Given the description of an element on the screen output the (x, y) to click on. 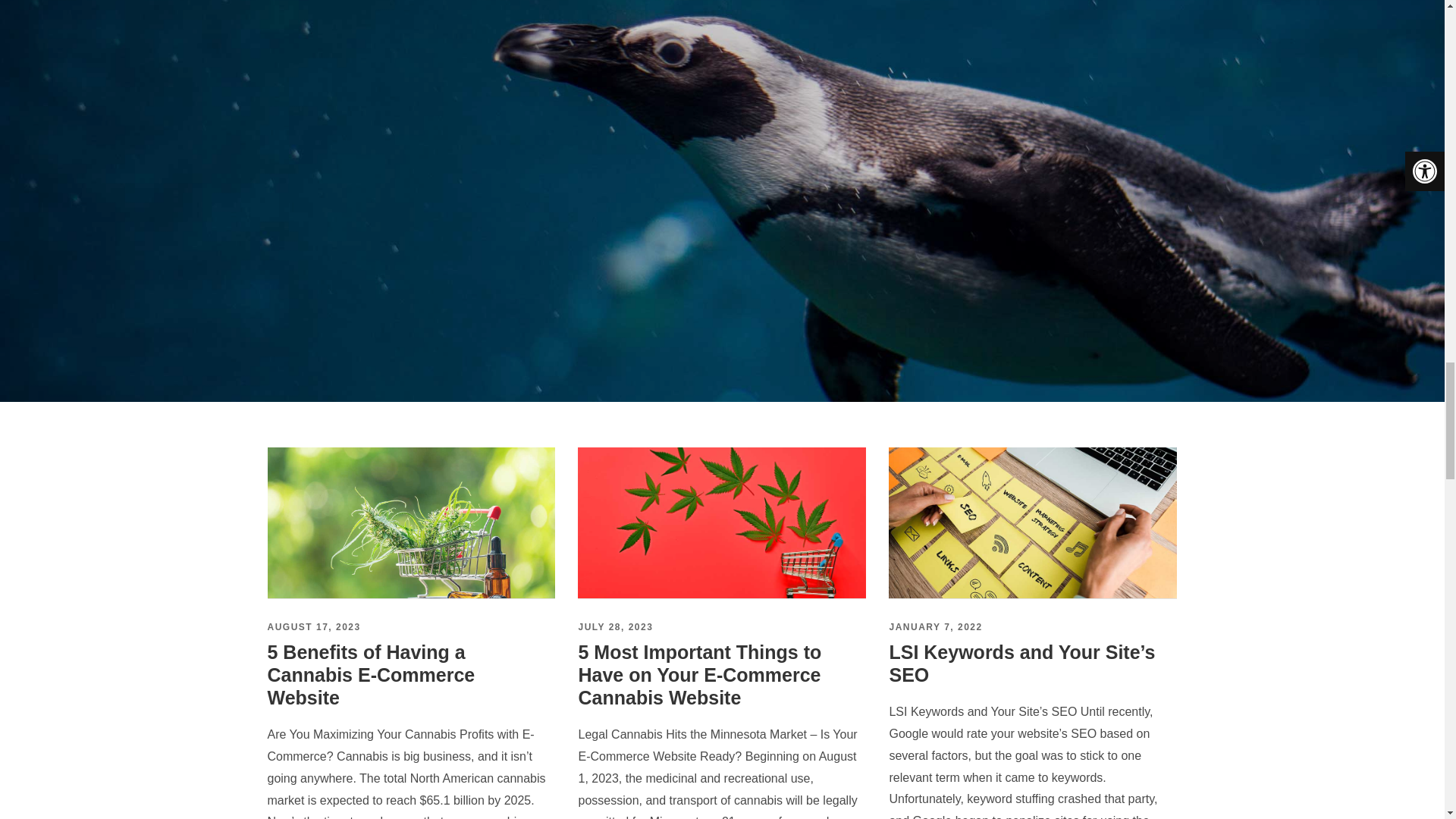
Lsi Keywords (1032, 522)
Cannabis And Oil In Shopping Cart (410, 522)
Shopping cart with cannabis leaves (722, 522)
